Given the description of an element on the screen output the (x, y) to click on. 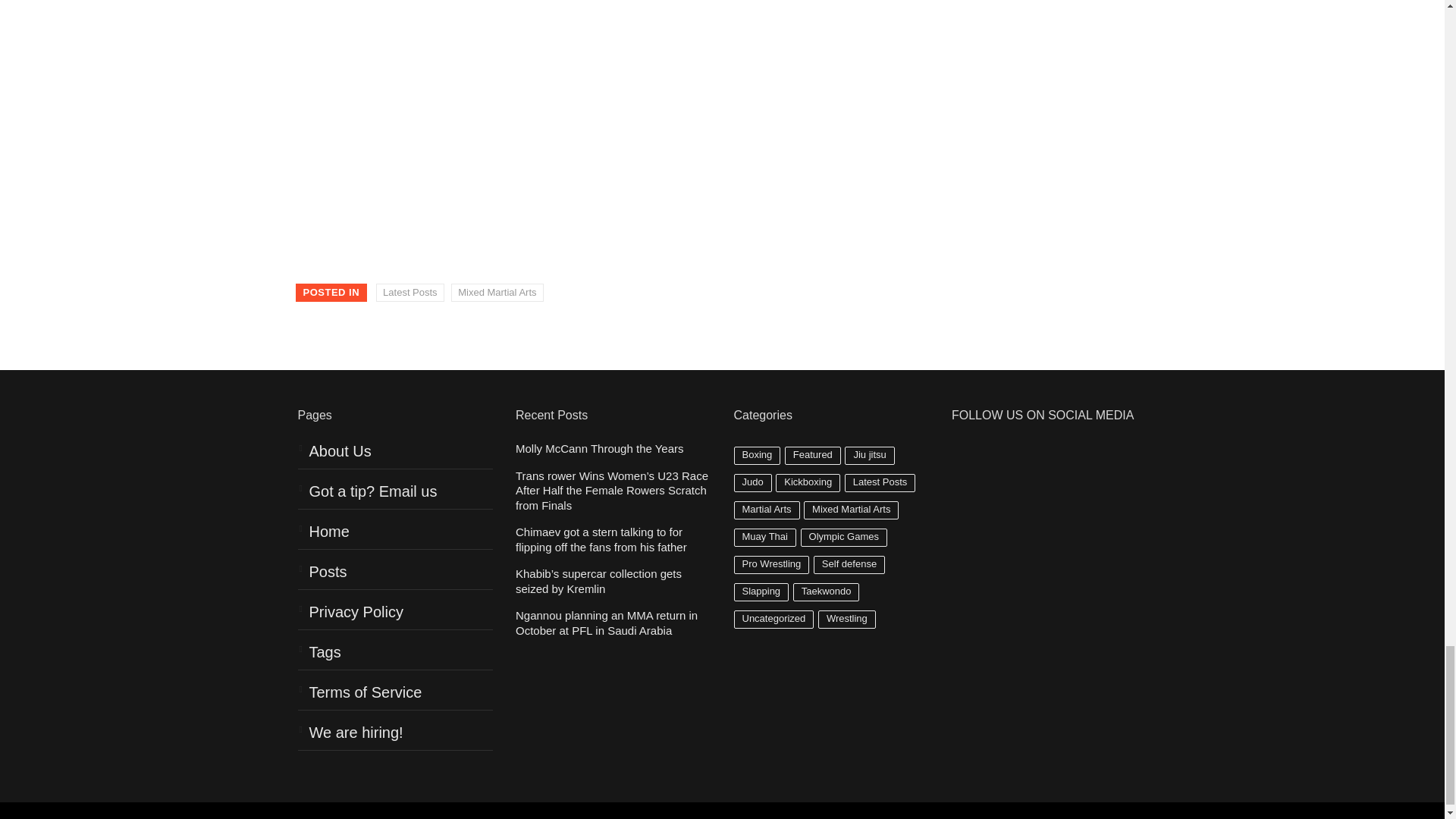
Latest Posts (409, 292)
Mixed Martial Arts (497, 292)
